Given the description of an element on the screen output the (x, y) to click on. 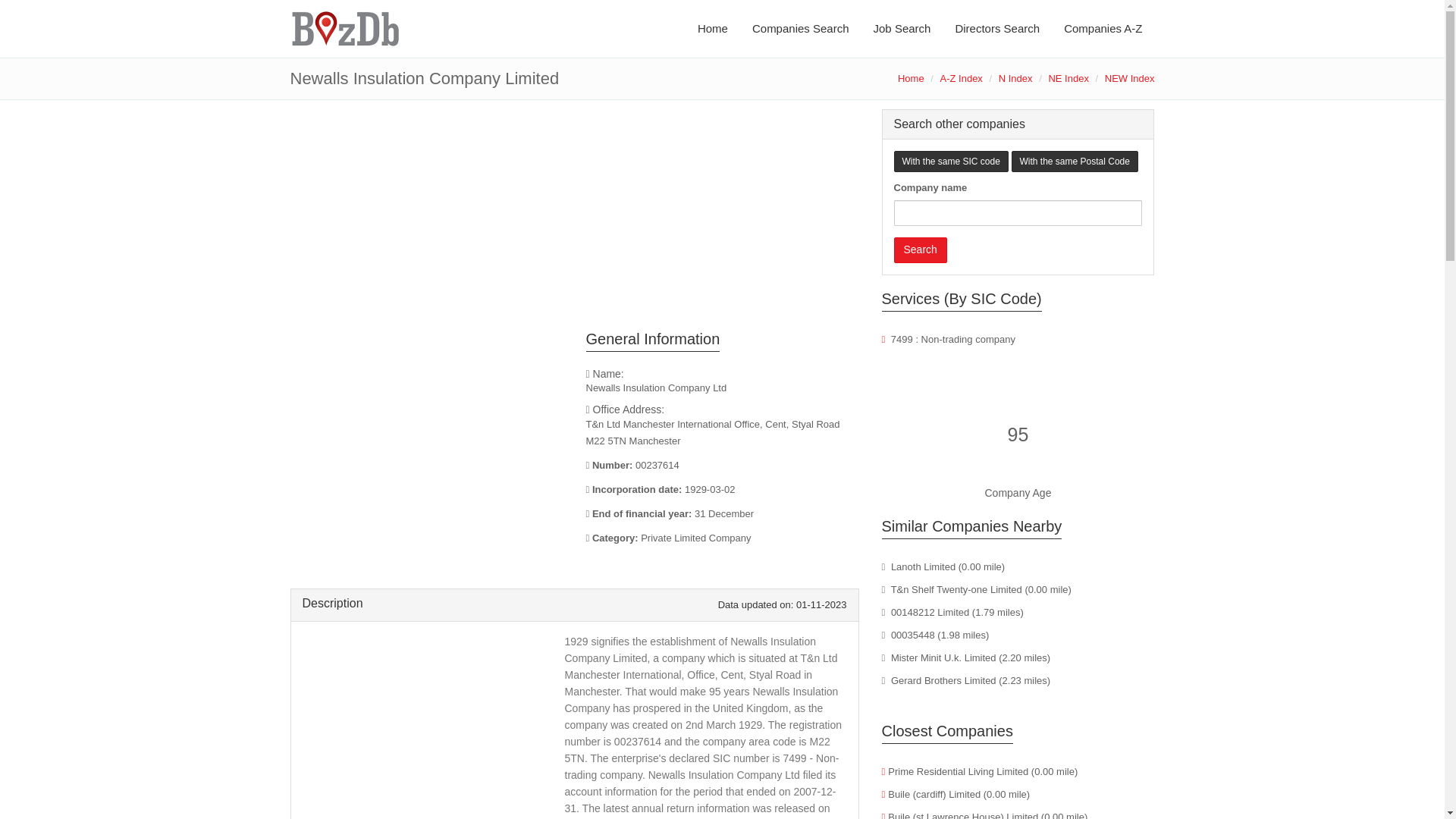
N Index (1015, 78)
the day the company was formed (722, 489)
Companies Search (800, 28)
NEW Index (1129, 78)
Home (712, 28)
NEW Index (1129, 78)
A-Z Index (961, 78)
Directors Search (996, 28)
Gerard Brothers Limited (943, 680)
